Given the description of an element on the screen output the (x, y) to click on. 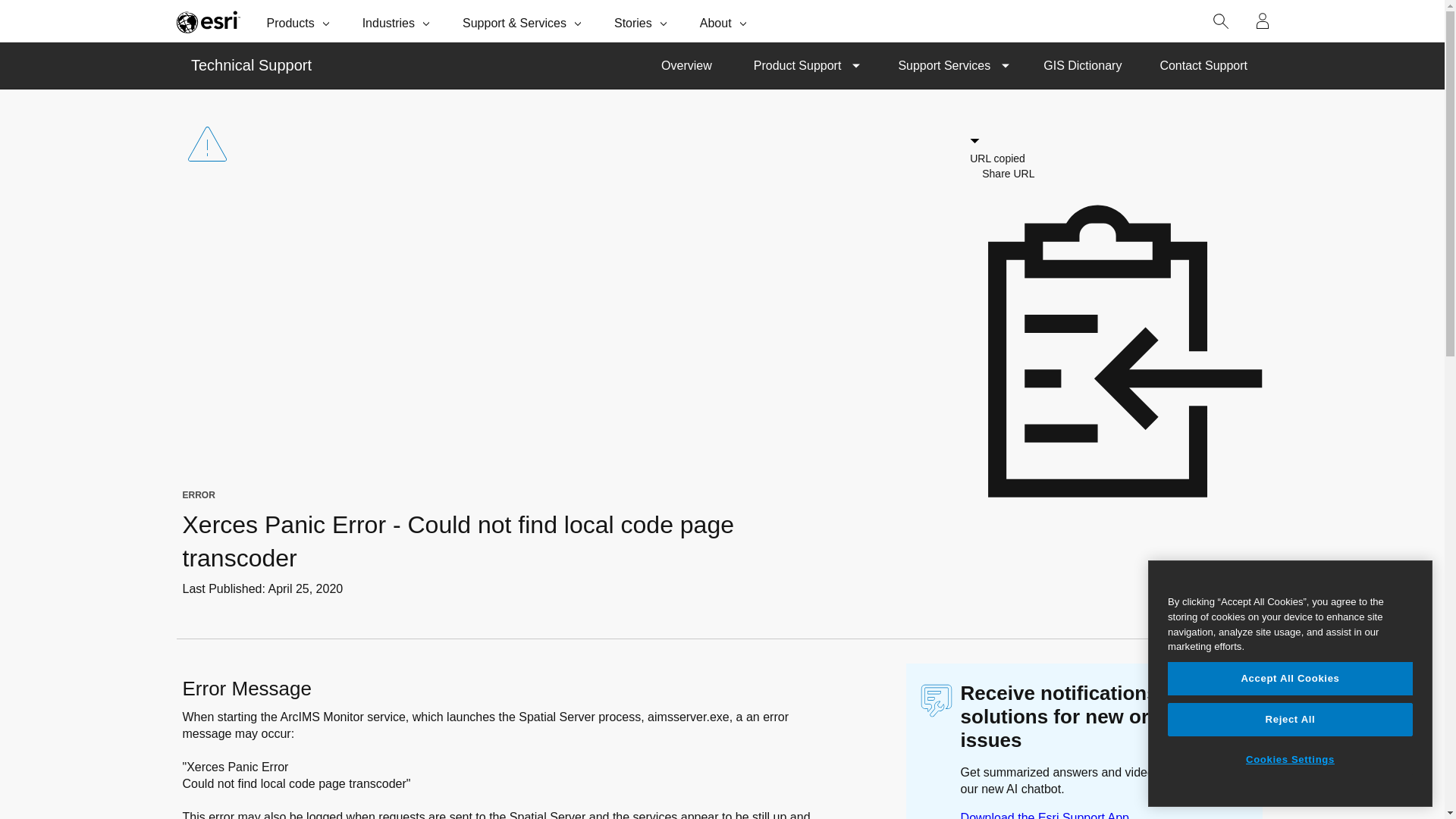
Industries (396, 20)
Esri home page (208, 21)
Search (1220, 20)
Sign In (1262, 20)
Esri home page (208, 21)
Products (299, 20)
Esri home page (208, 21)
